Given the description of an element on the screen output the (x, y) to click on. 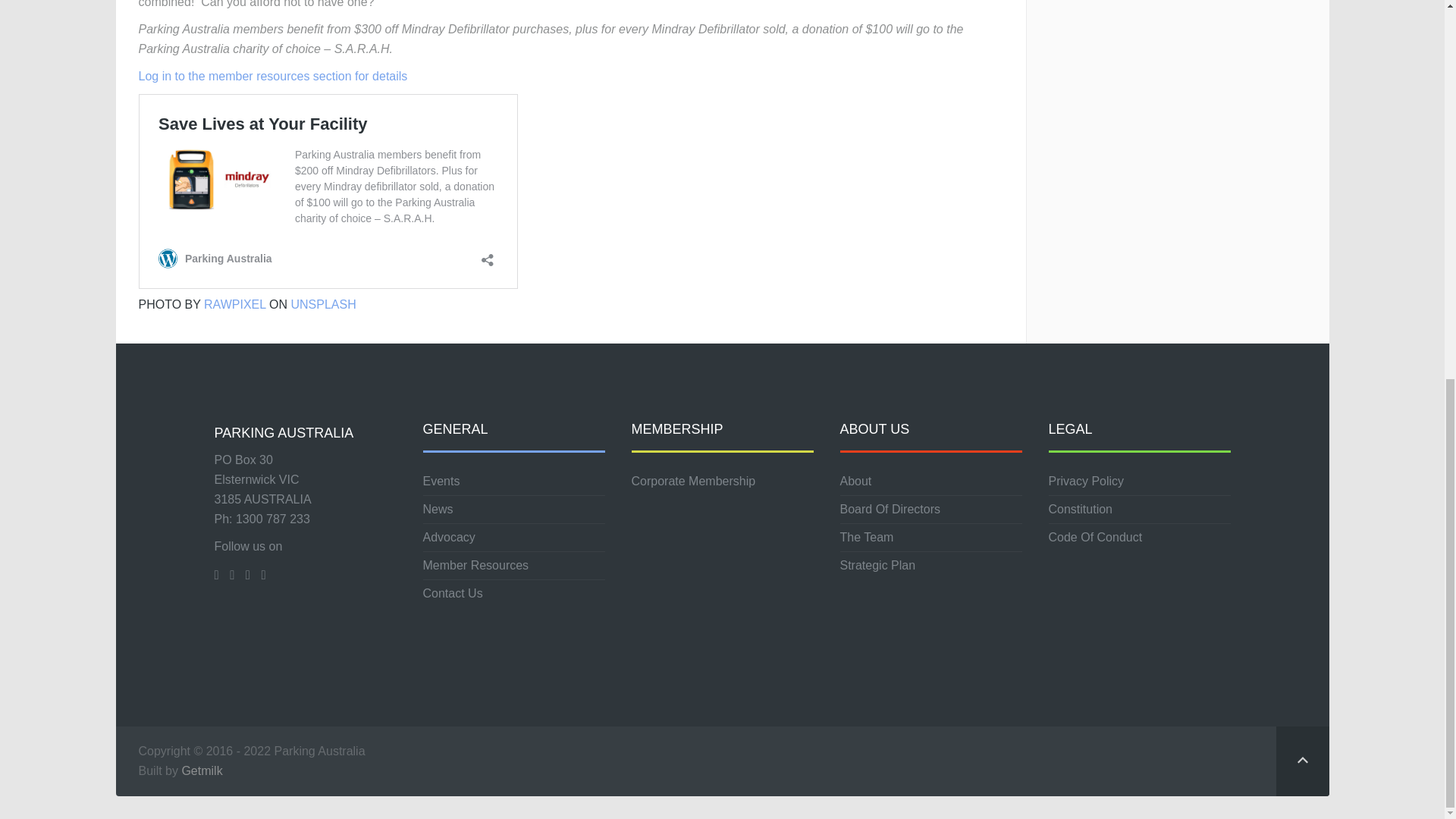
RAWPIXEL (234, 304)
UNSPLASH (322, 304)
Log in to the member resources section for details (272, 75)
